Given the description of an element on the screen output the (x, y) to click on. 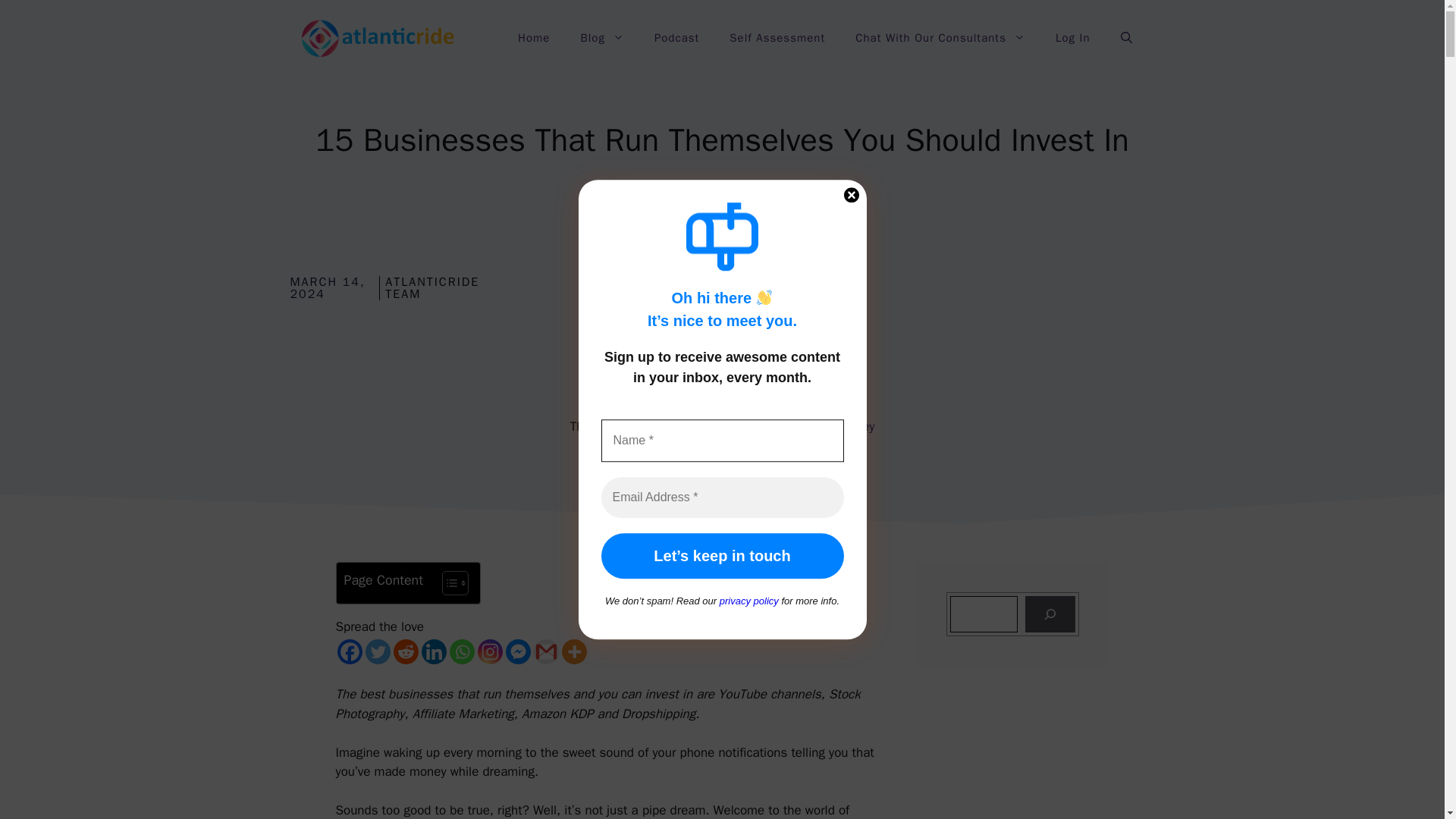
Godfrey (853, 426)
Chat With Our Consultants (940, 37)
Blog (601, 37)
Self Assessment (777, 37)
Log In (1073, 37)
Podcast (676, 37)
Home (533, 37)
ATLANTICRIDE TEAM (432, 288)
